Given the description of an element on the screen output the (x, y) to click on. 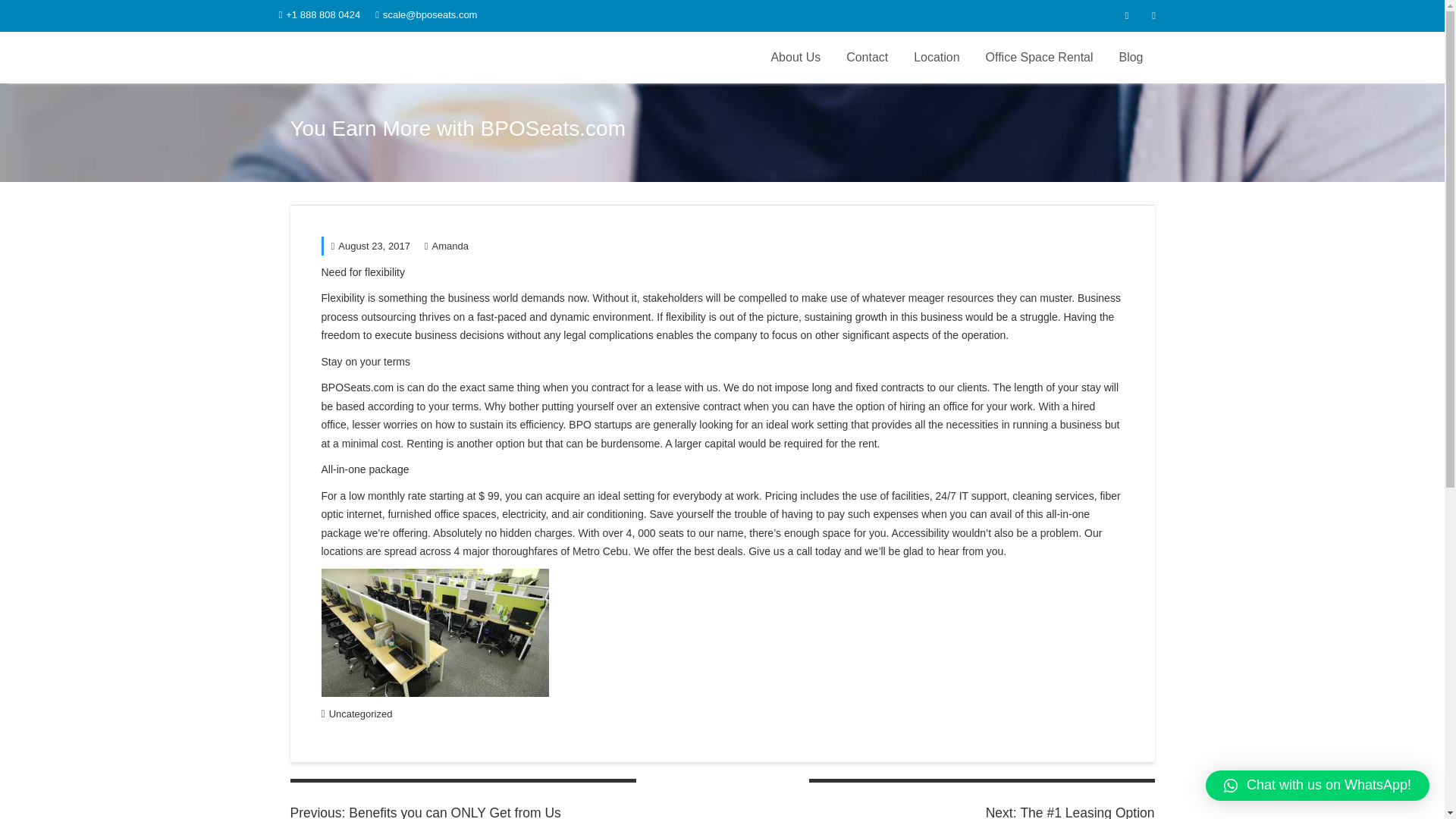
Contact (866, 57)
Amanda (461, 798)
Facebook (446, 245)
Youtube (1126, 15)
August 23, 2017 (1153, 15)
Uncategorized (369, 245)
Office Space Rental (361, 713)
Chat with us on WhatsApp! (1039, 57)
Blog (1317, 785)
